Given the description of an element on the screen output the (x, y) to click on. 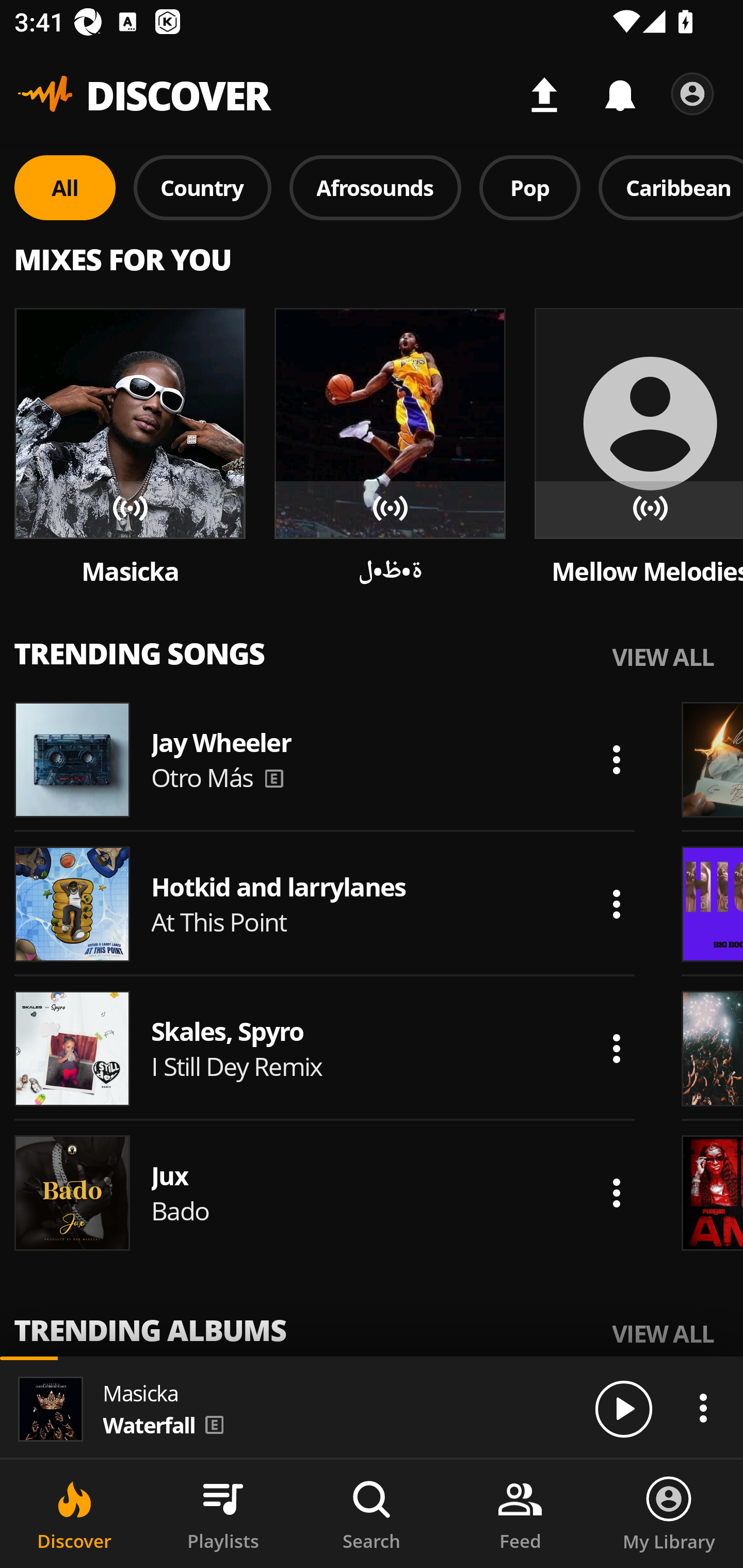
Settings (692, 94)
All (64, 187)
Country (202, 187)
Afrosounds (375, 187)
Pop (529, 187)
Caribbean (670, 187)
Song artwork Song artwork Song artwork Masicka (129, 447)
Song artwork Song artwork Song artwork ة•ظ•ل (389, 447)
VIEW ALL (663, 655)
Song artwork Jay Wheeler Otro Más    Actions (324, 759)
Actions (616, 759)
Actions (616, 903)
Actions (616, 1048)
Song artwork Jux Bado Actions (324, 1193)
Actions (616, 1193)
VIEW ALL (663, 1333)
Actions (703, 1407)
Play/Pause (623, 1408)
Discover (74, 1513)
Playlists (222, 1513)
Search (371, 1513)
Feed (519, 1513)
My Library (668, 1513)
